Given the description of an element on the screen output the (x, y) to click on. 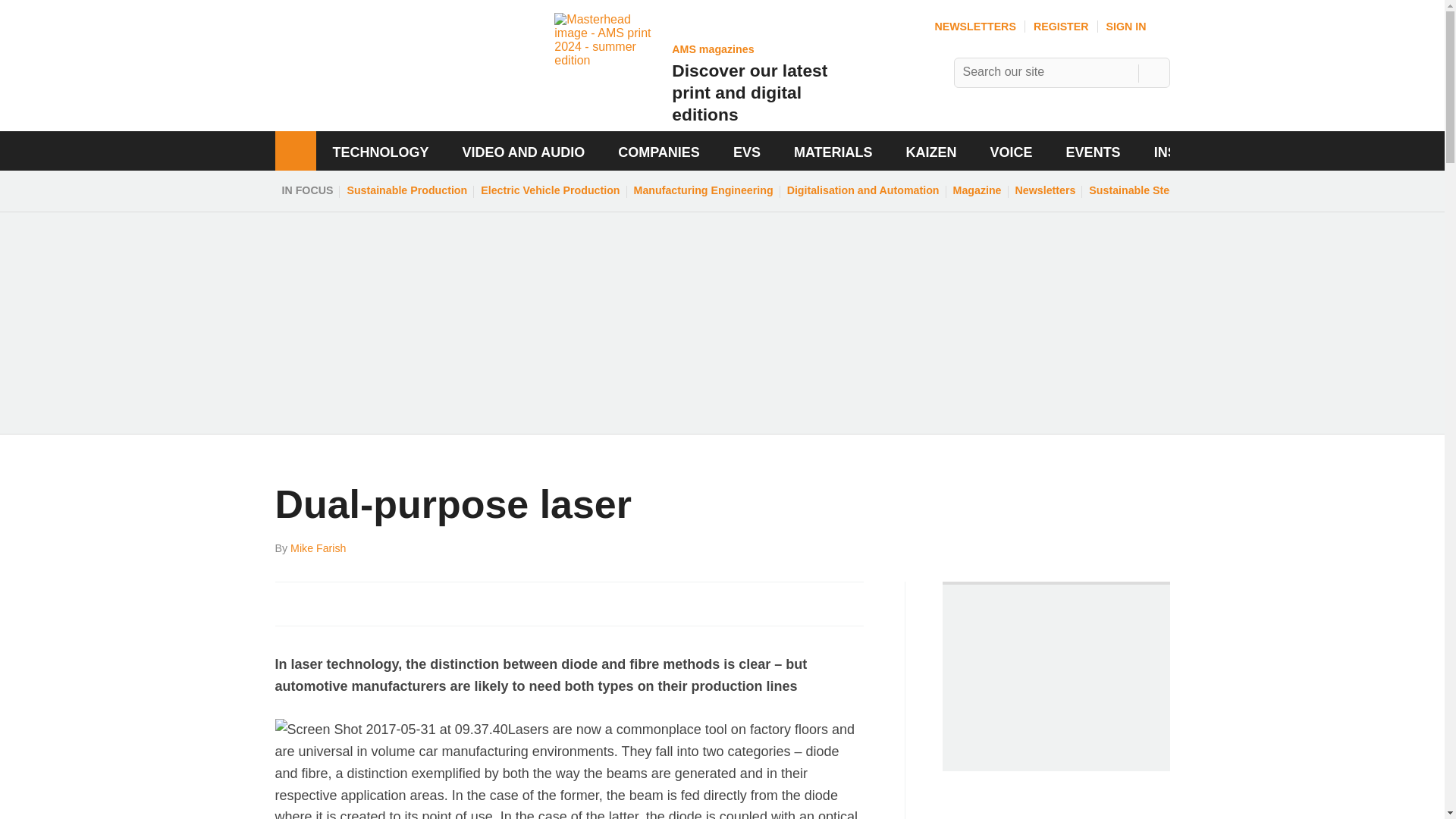
NEWSLETTERS (974, 26)
Share this on Twitter (320, 603)
Sustainable Production (406, 190)
Newsletters (1046, 190)
Email this article (386, 603)
Digitalisation and Automation (863, 190)
Magazine (977, 190)
REGISTER (1061, 26)
SIGN IN (1138, 26)
Share this on Linked in (352, 603)
